Given the description of an element on the screen output the (x, y) to click on. 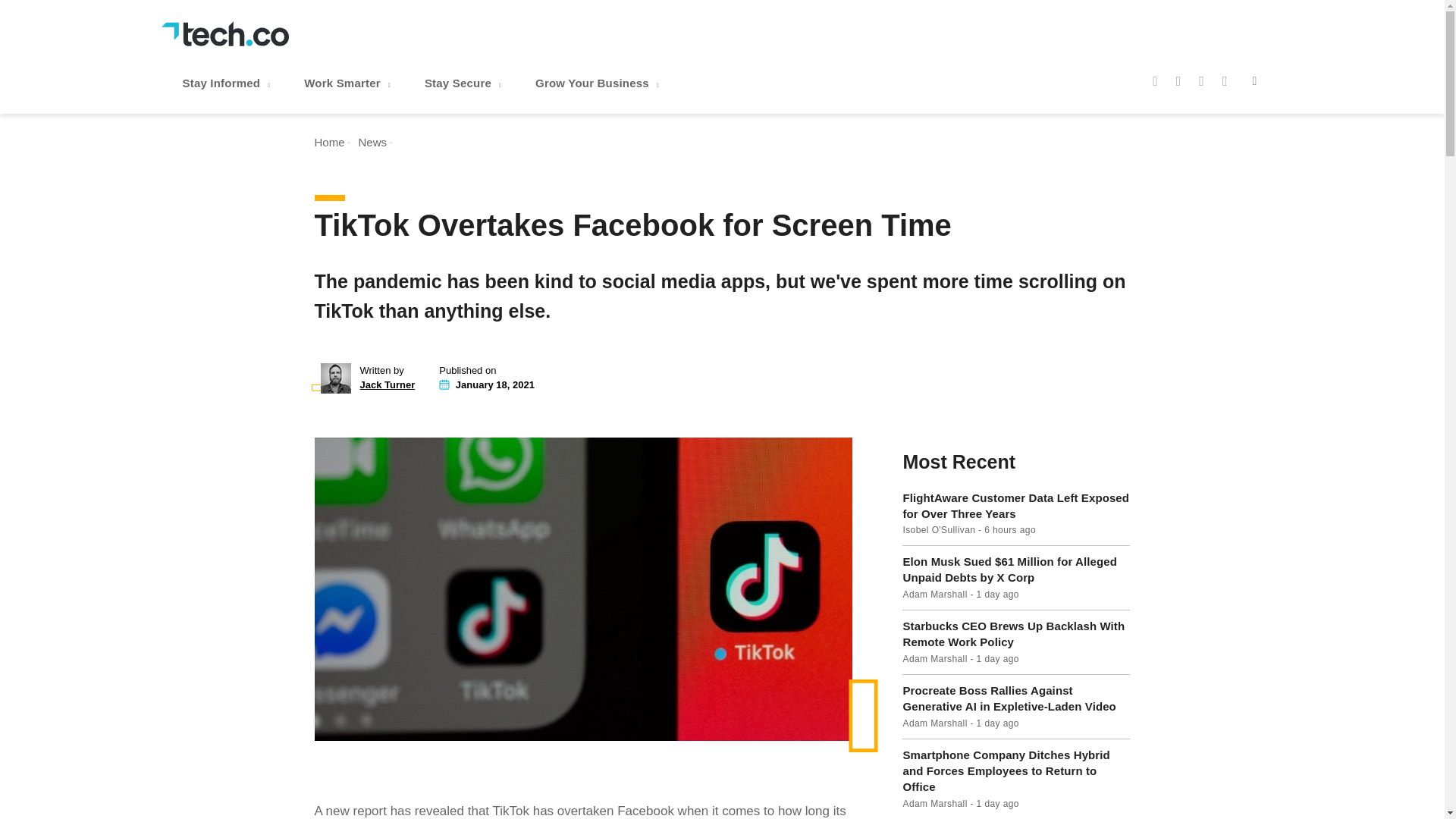
Grow Your Business (598, 83)
Stay Informed (227, 83)
Stay Secure (464, 83)
Work Smarter (348, 83)
